Given the description of an element on the screen output the (x, y) to click on. 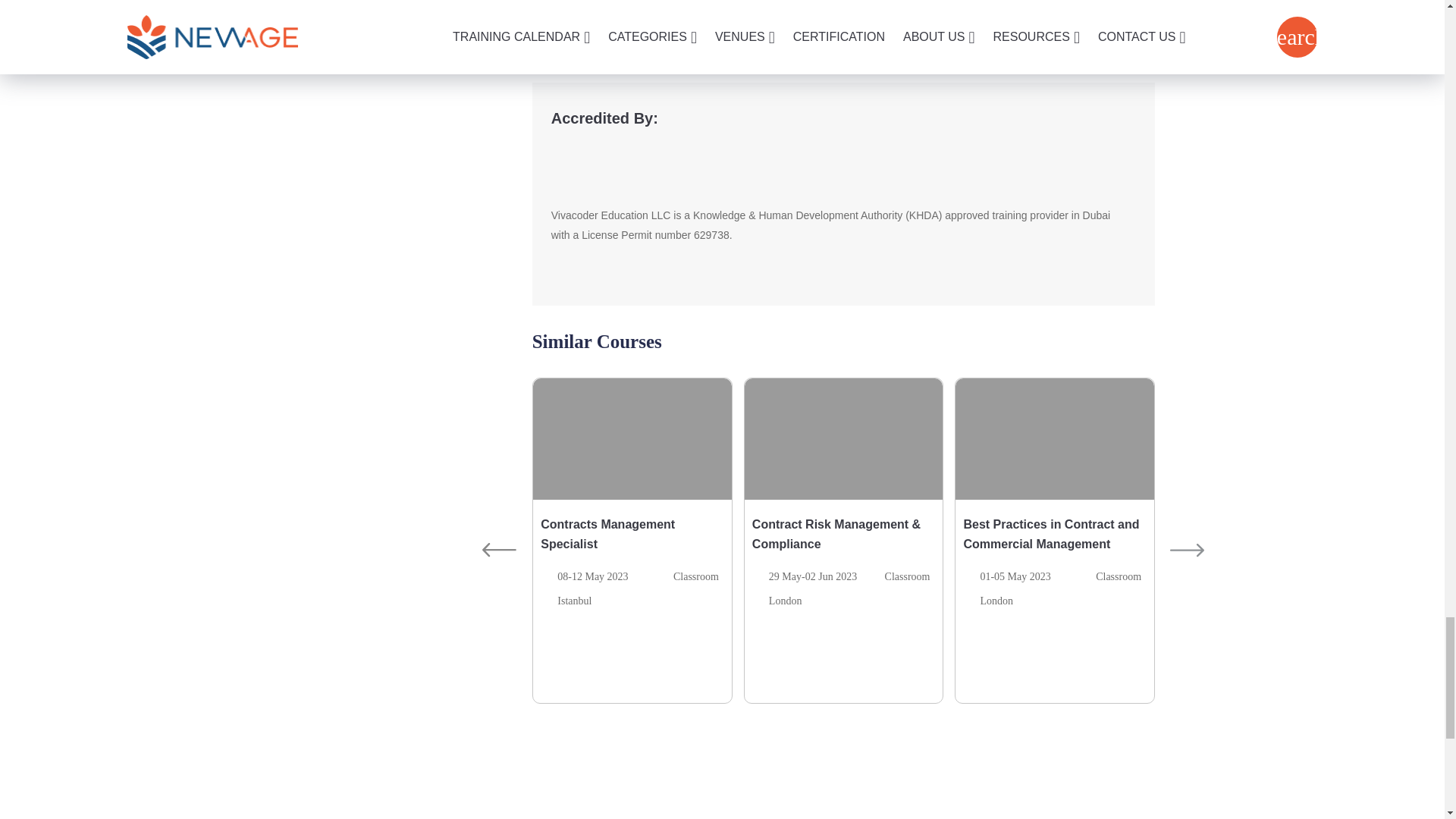
C7bHU7NWwAAJf5I-1024x537-1-1 (587, 171)
